Given the description of an element on the screen output the (x, y) to click on. 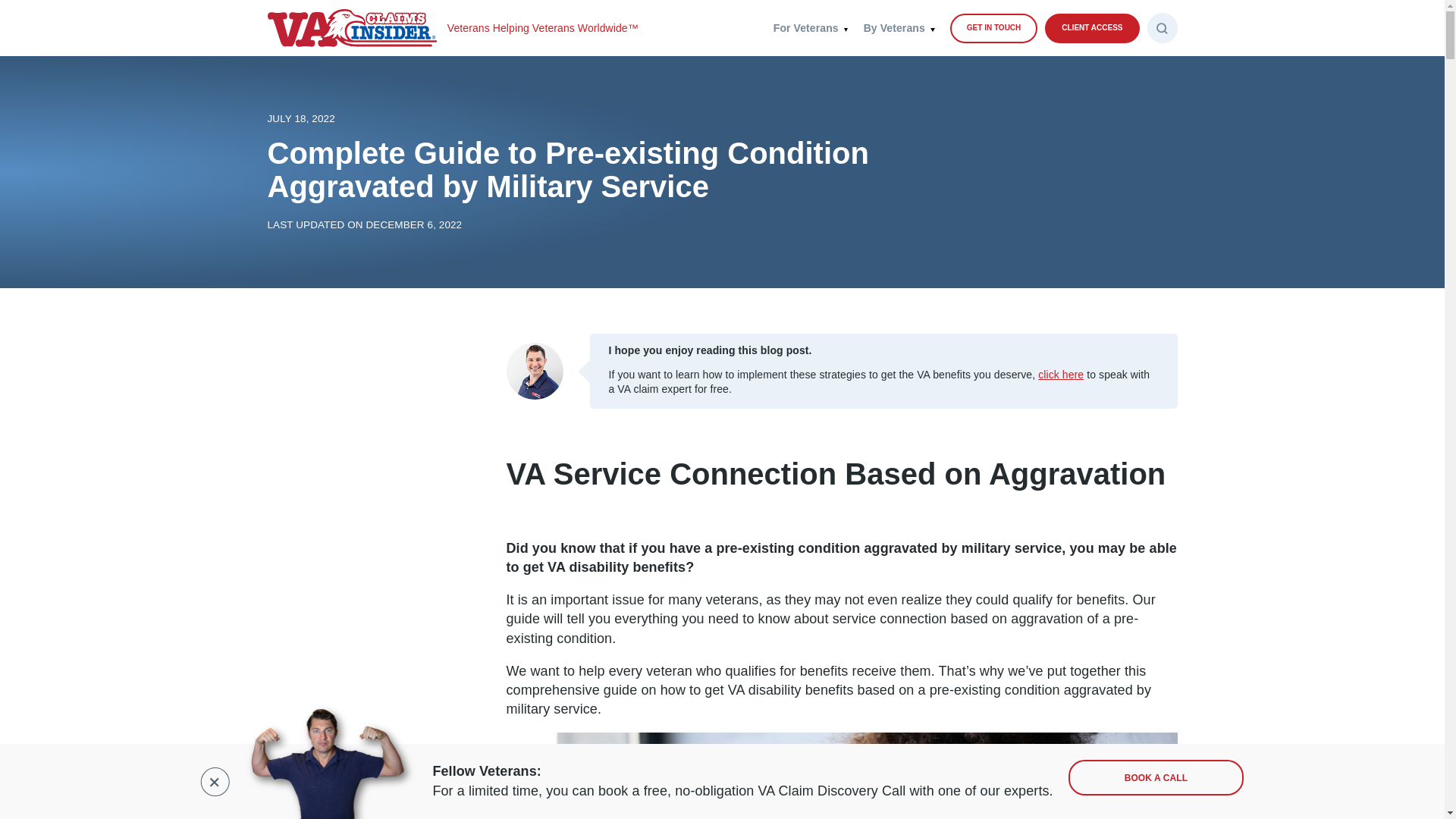
For Veterans (810, 27)
By Veterans (898, 27)
Veterans Claims Assistance (810, 27)
